Given the description of an element on the screen output the (x, y) to click on. 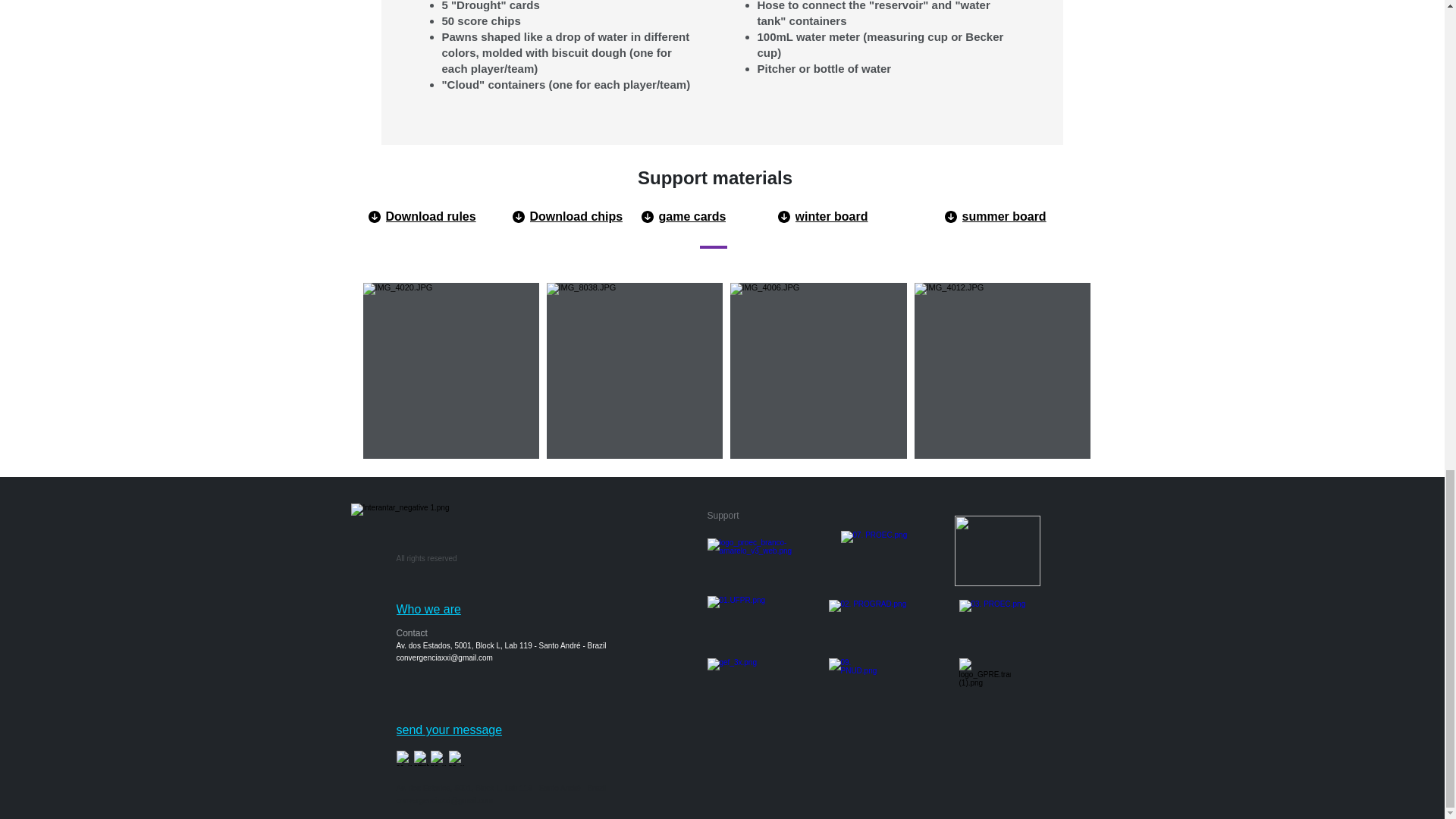
send your message (476, 729)
summer board (1010, 216)
winter board (855, 216)
Download chips (590, 216)
game cards (718, 216)
Download rules (445, 216)
Who we are (449, 609)
